Given the description of an element on the screen output the (x, y) to click on. 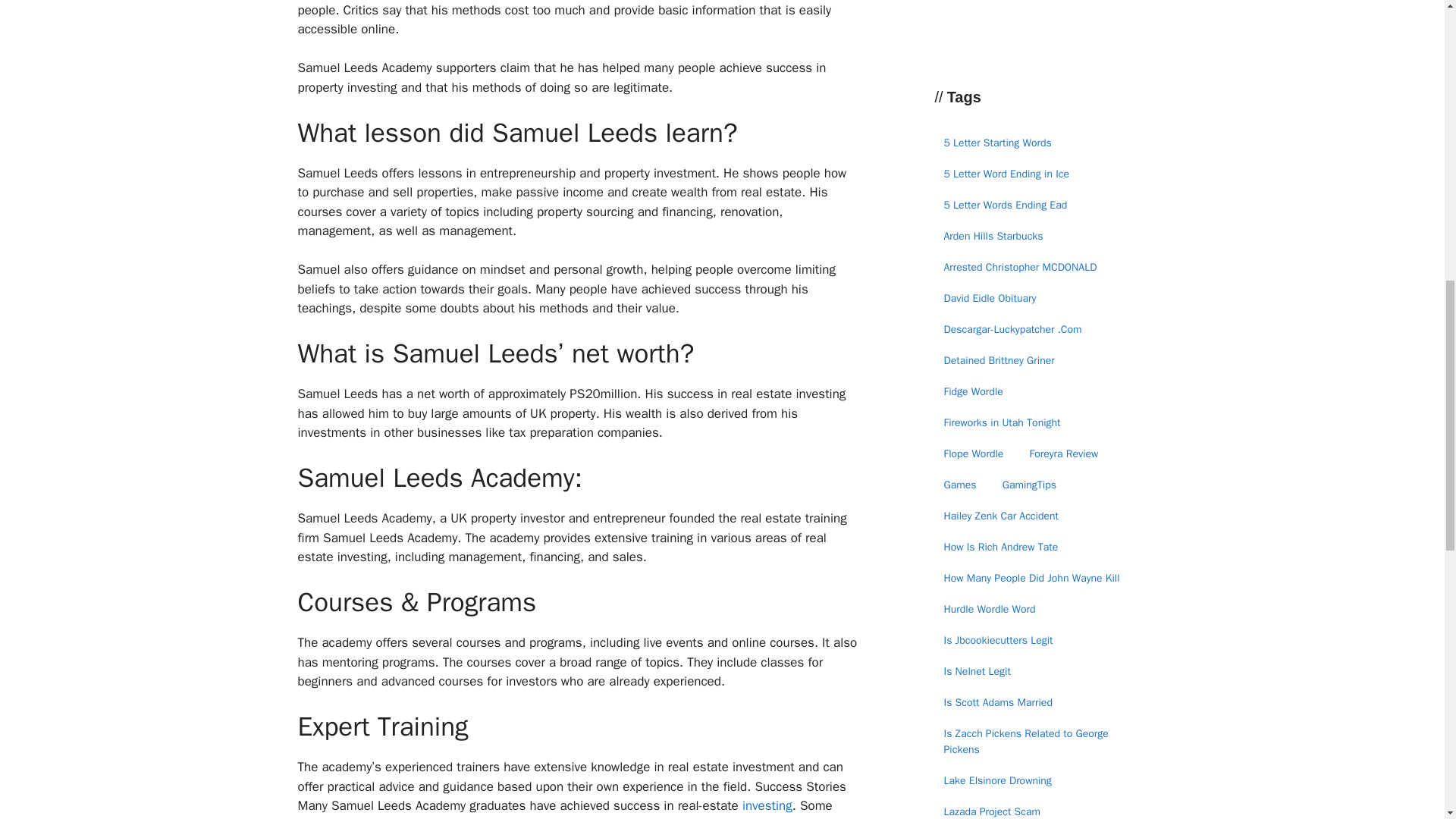
Scroll back to top (1406, 720)
5 Letter Starting Words (996, 141)
Arden Hills Starbucks (992, 236)
investing (765, 805)
5 Letter Words Ending Ead (1004, 204)
Website Reviews (1018, 4)
5 Letter Word Ending in Ice (1006, 173)
